Given the description of an element on the screen output the (x, y) to click on. 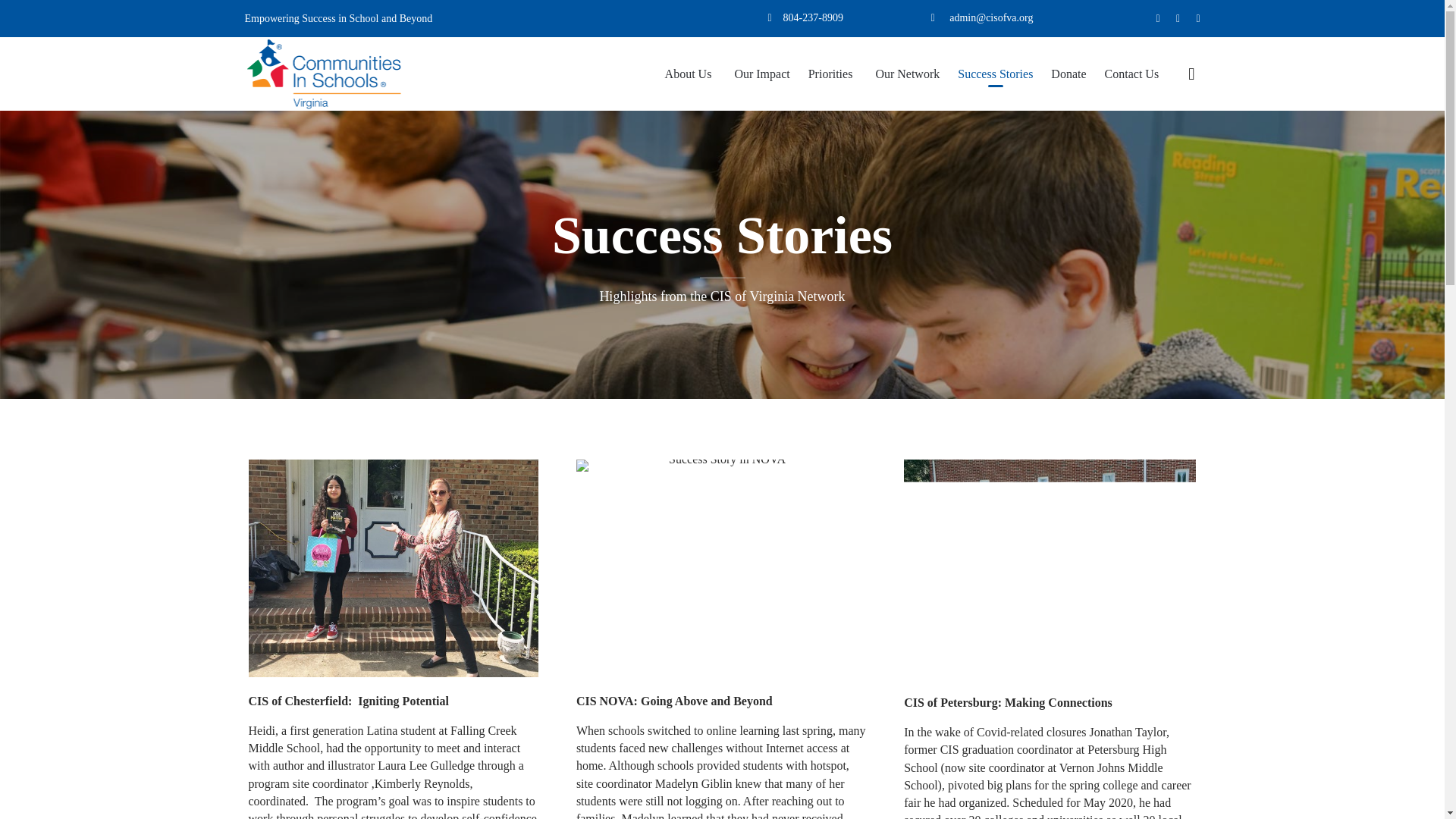
Contact Us (1132, 74)
Our Network (907, 74)
Donate (1068, 74)
Success Story in Petersburg (1049, 568)
Success Stories (995, 74)
Success Story in Chesterfield (393, 568)
About Us (690, 74)
Our Impact (761, 74)
Success Story in NOVA (721, 568)
Priorities (832, 74)
Communities In Schools of Virginia (323, 73)
